Given the description of an element on the screen output the (x, y) to click on. 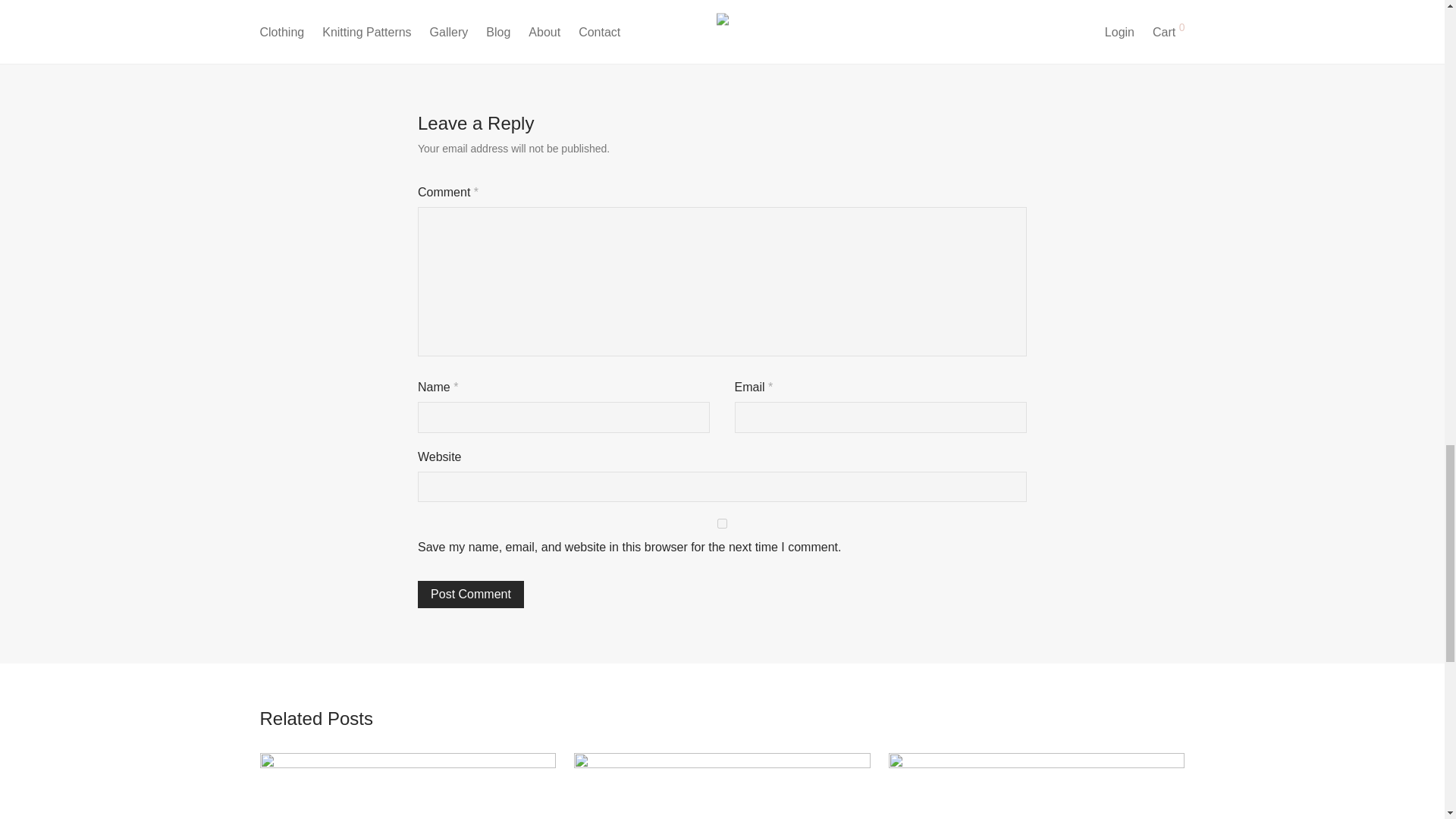
Post Comment (1070, 13)
Post Comment (374, 13)
yes (470, 594)
